Given the description of an element on the screen output the (x, y) to click on. 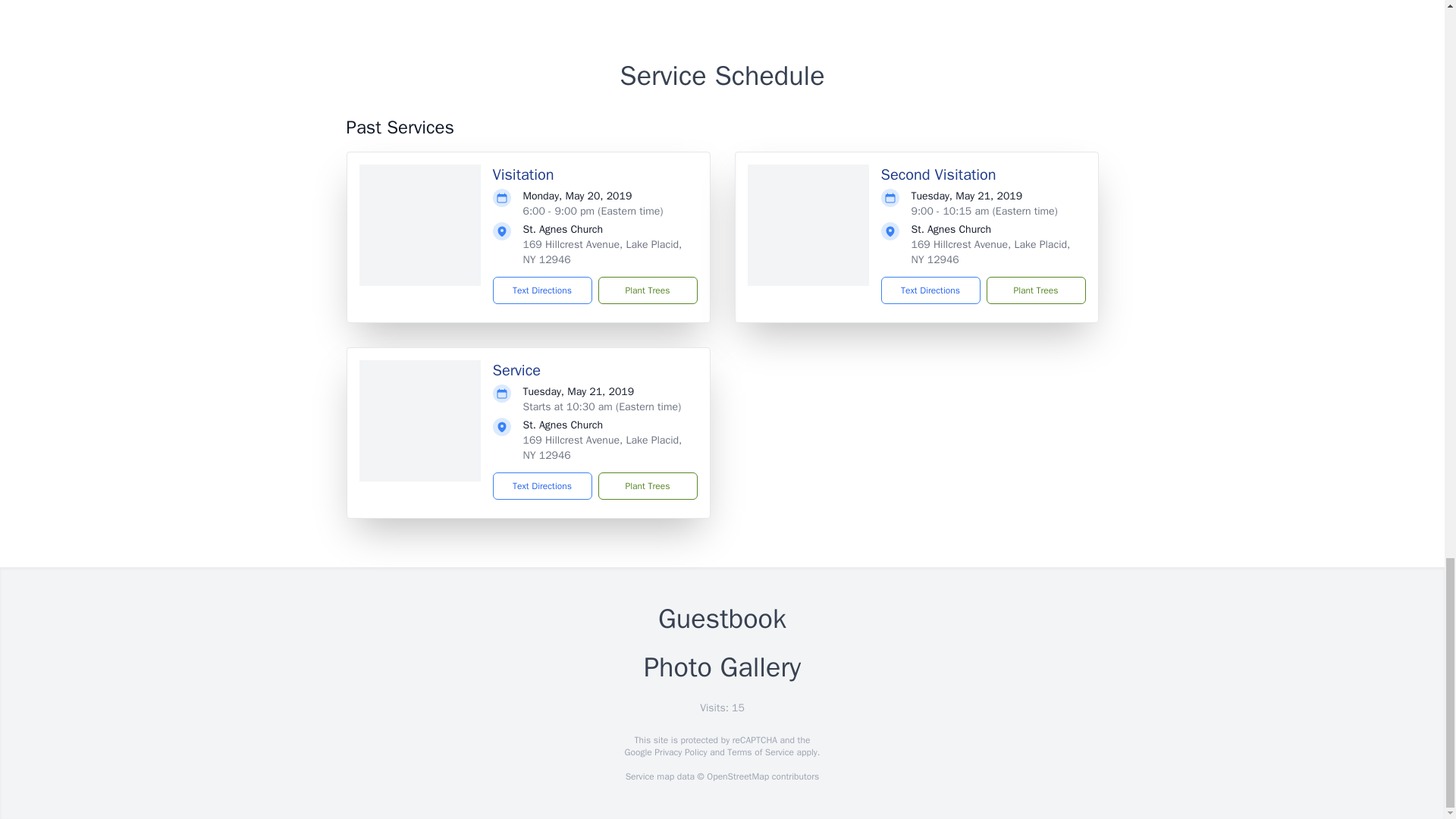
Terms of Service (759, 752)
Text Directions (542, 289)
OpenStreetMap (737, 776)
Plant Trees (1034, 289)
Privacy Policy (679, 752)
Text Directions (542, 485)
Plant Trees (646, 485)
169 Hillcrest Avenue, Lake Placid, NY 12946 (602, 252)
169 Hillcrest Avenue, Lake Placid, NY 12946 (602, 447)
Plant Trees (646, 289)
